Given the description of an element on the screen output the (x, y) to click on. 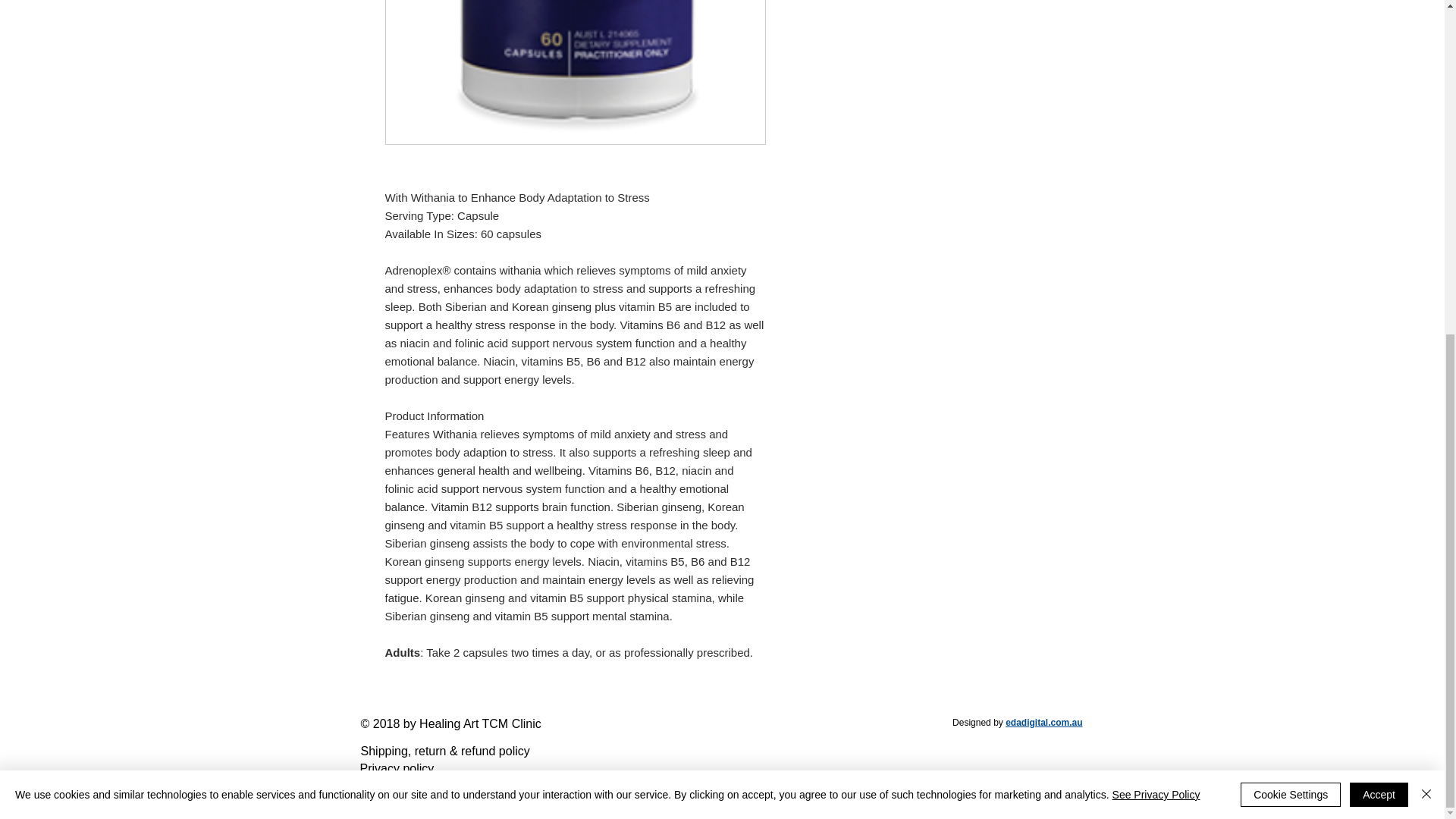
Cookie Settings (1290, 236)
edadigital.com.au (1043, 722)
See Privacy Policy (1155, 236)
Privacy policy (396, 768)
Accept (1378, 236)
